Given the description of an element on the screen output the (x, y) to click on. 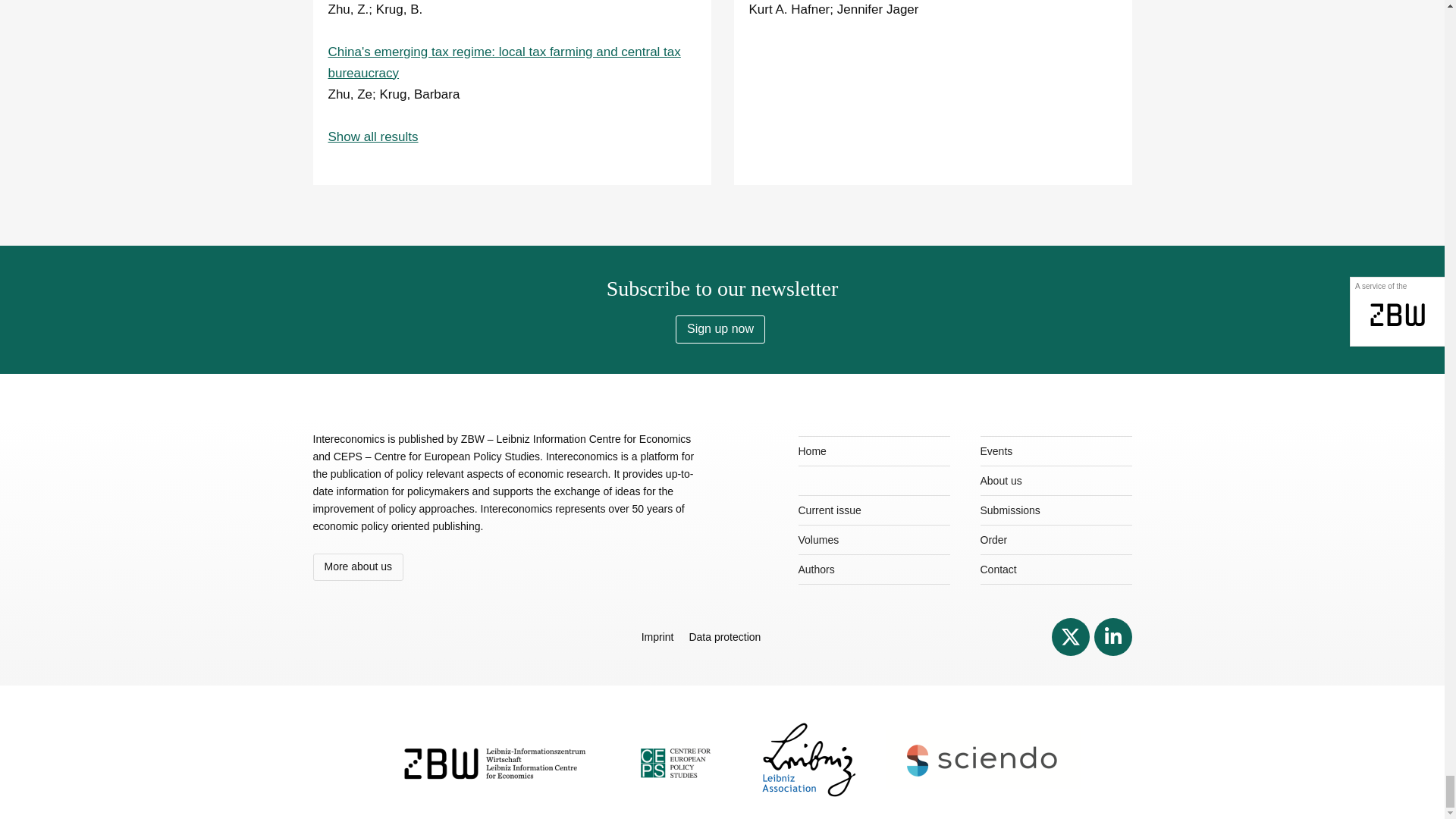
Intereconomics on X (1070, 636)
Intereconomics on LinkedIn (1112, 636)
